Given the description of an element on the screen output the (x, y) to click on. 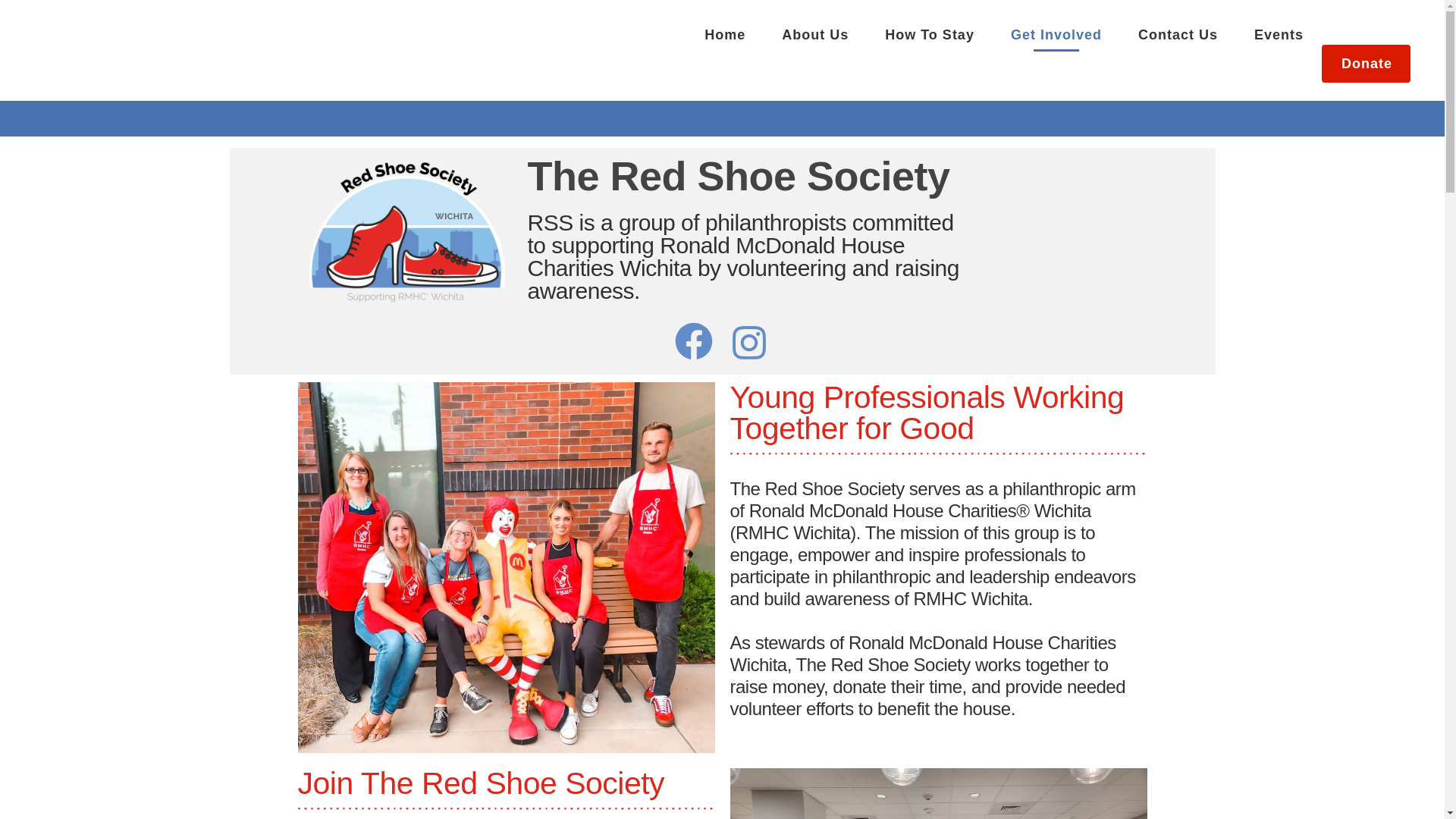
Contact Us (1177, 34)
About Us (814, 34)
How To Stay (929, 34)
Donate (1366, 63)
Home (723, 34)
Red Shoe Society Logo- horizontal (404, 231)
Events (1279, 34)
Get Involved (1055, 34)
